Given the description of an element on the screen output the (x, y) to click on. 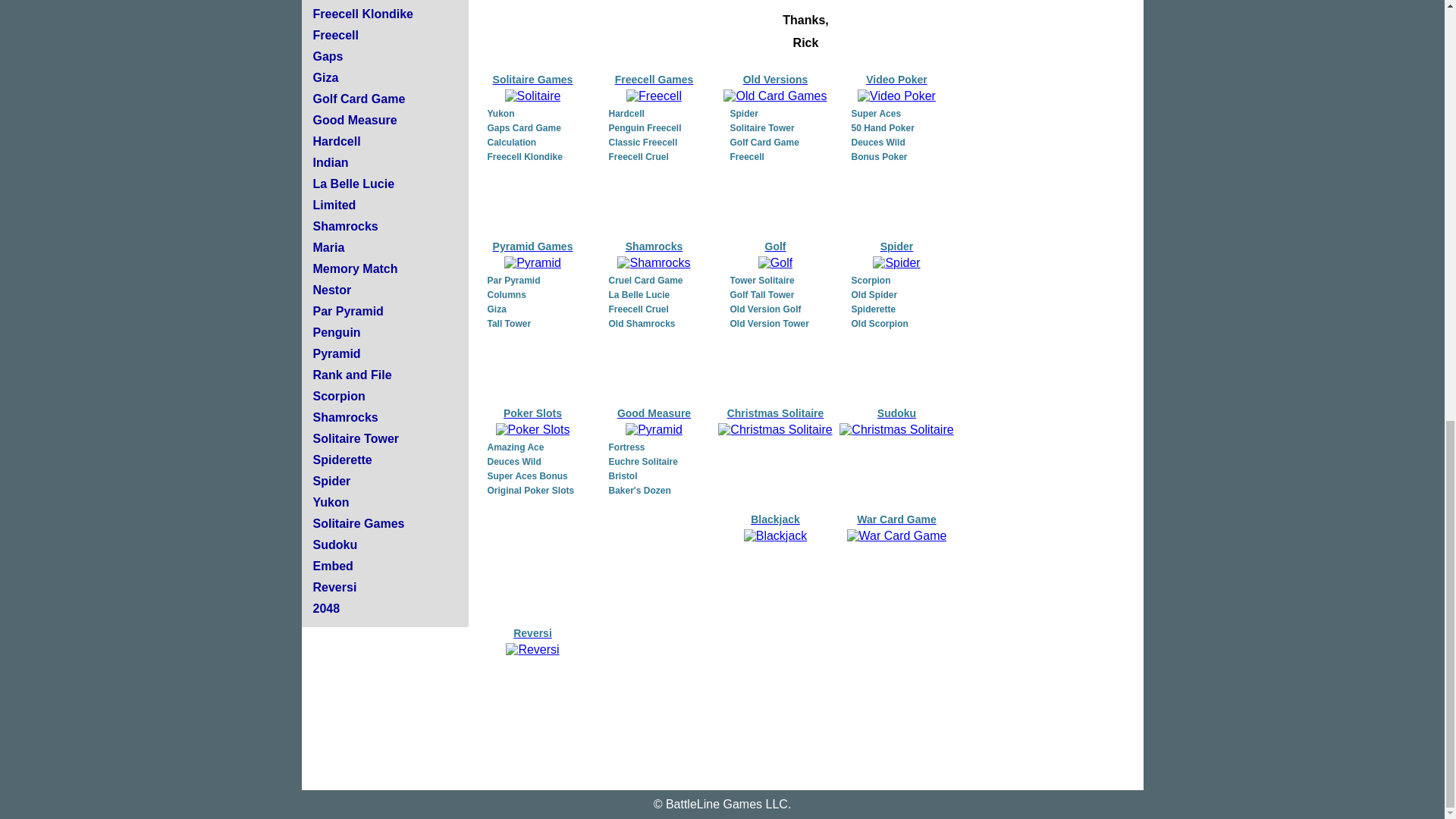
Scorpion (339, 395)
Golf Card Game (358, 98)
Shamrocks (345, 226)
Freecell (335, 34)
Limited (334, 205)
Giza (325, 77)
Rank and File (352, 374)
Hardcell (336, 141)
Nestor (331, 289)
Gaps (327, 56)
Penguin (336, 332)
Shamrocks (345, 417)
Pyramid (336, 353)
La Belle Lucie (353, 183)
Maria (328, 246)
